Given the description of an element on the screen output the (x, y) to click on. 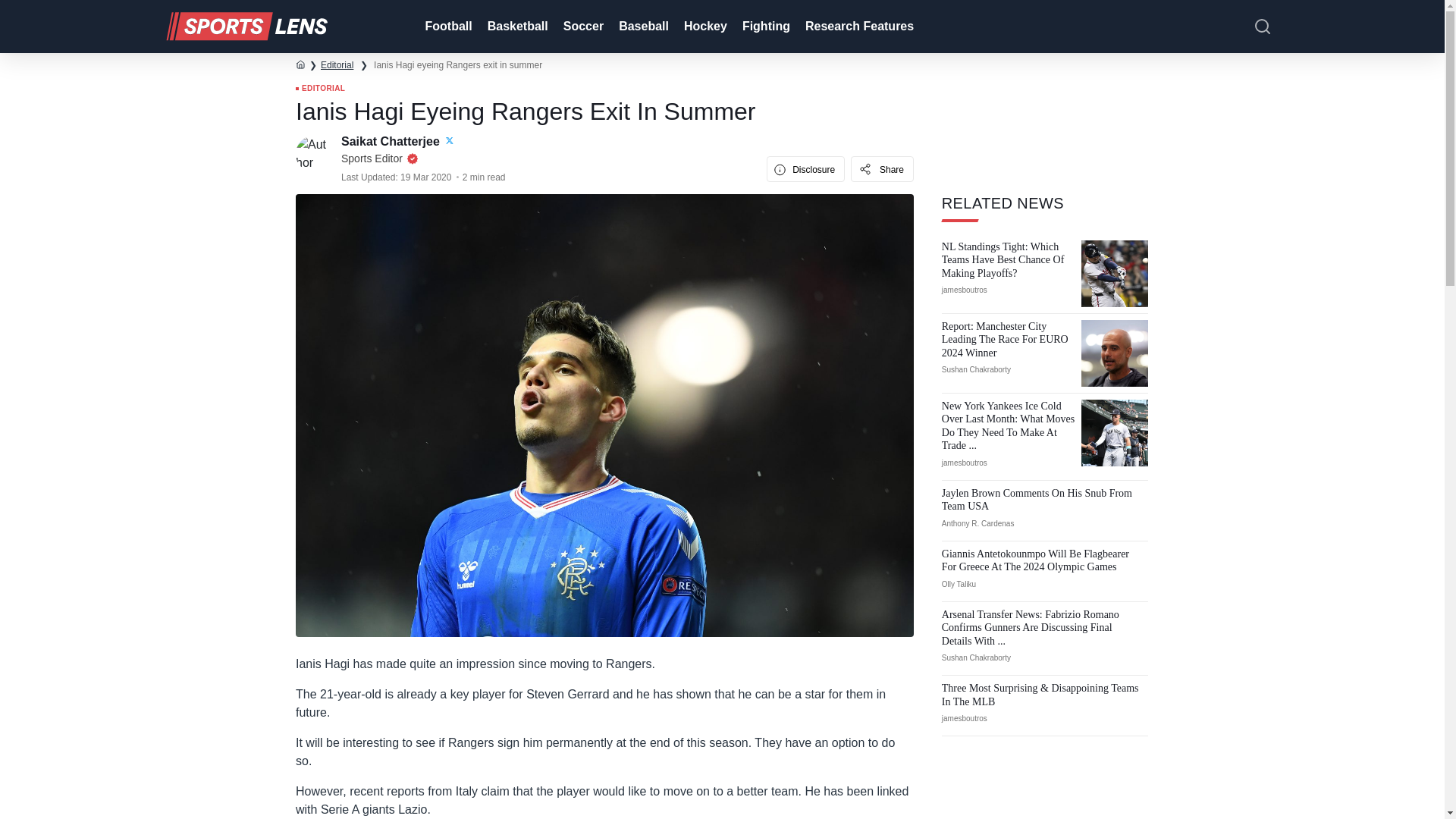
Hockey (704, 26)
Research Features (858, 26)
Sushan Chakraborty (976, 369)
jamesboutros (964, 289)
EDITORIAL (320, 88)
Baseball (642, 26)
Share (882, 168)
Basketball (516, 26)
Editorial (336, 64)
Soccer (582, 26)
Football (445, 26)
Saikat Chatterjee (391, 141)
Fighting (764, 26)
